Given the description of an element on the screen output the (x, y) to click on. 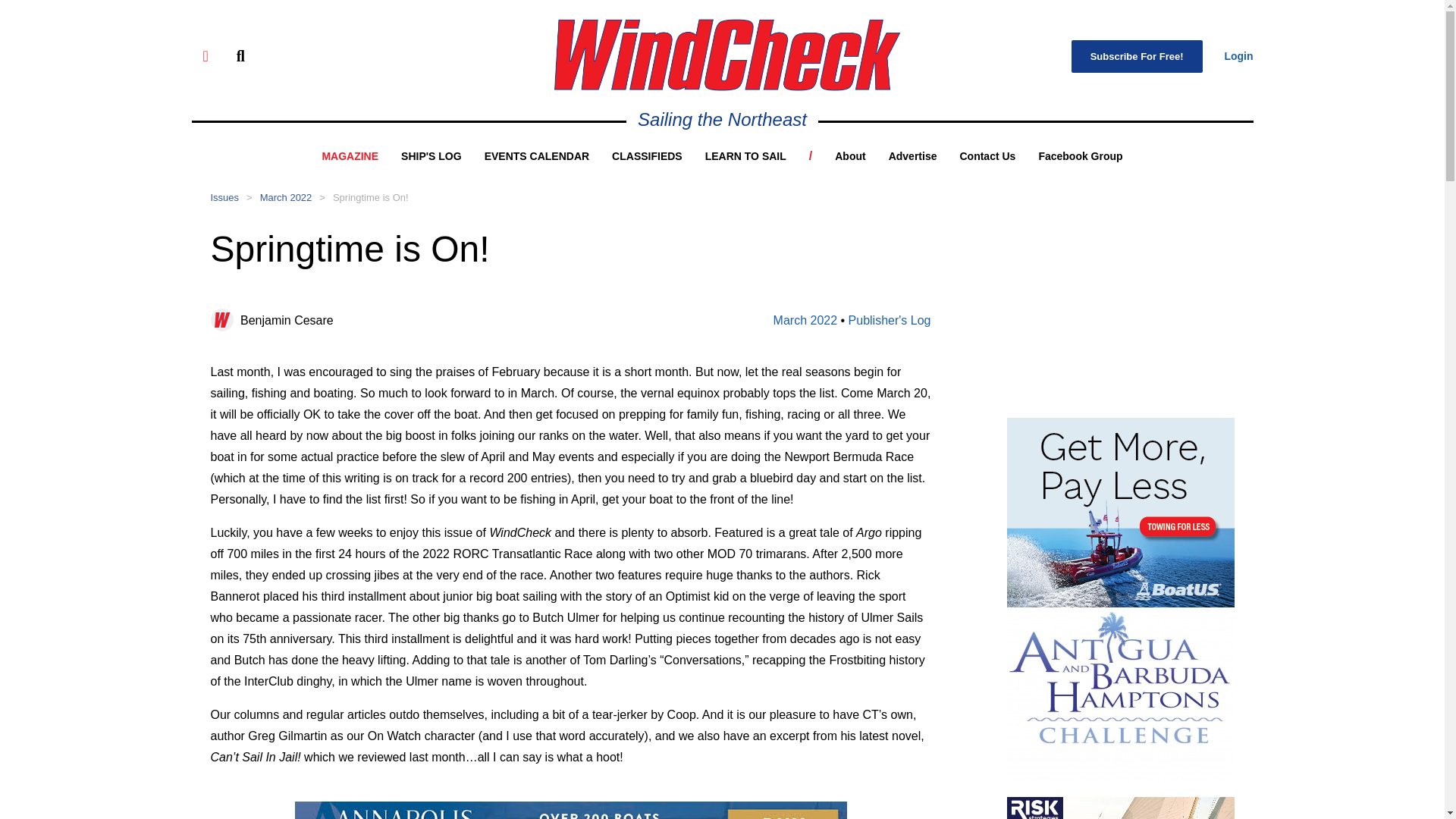
Issues (225, 197)
Go to the March 2022 Issue archives. (286, 197)
EVENTS CALENDAR (536, 155)
Login (1238, 55)
March 2022 (286, 197)
March 2022 (805, 319)
WindCheck Magazine (727, 54)
Go to Springtime is On!. (371, 197)
Contact Us (986, 155)
Publisher's Log (889, 319)
